Given the description of an element on the screen output the (x, y) to click on. 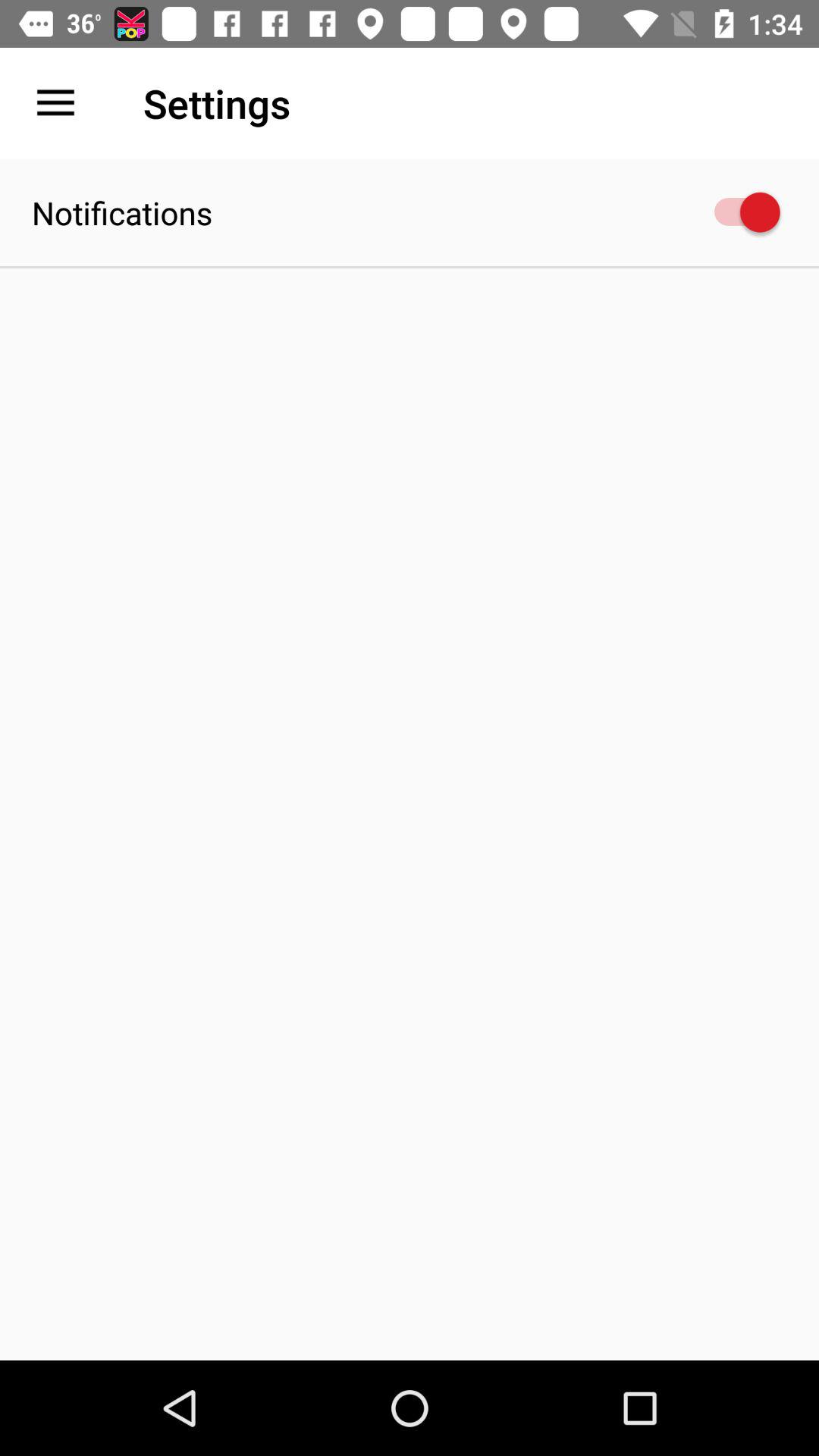
turn on the icon next to the notifications item (739, 212)
